Given the description of an element on the screen output the (x, y) to click on. 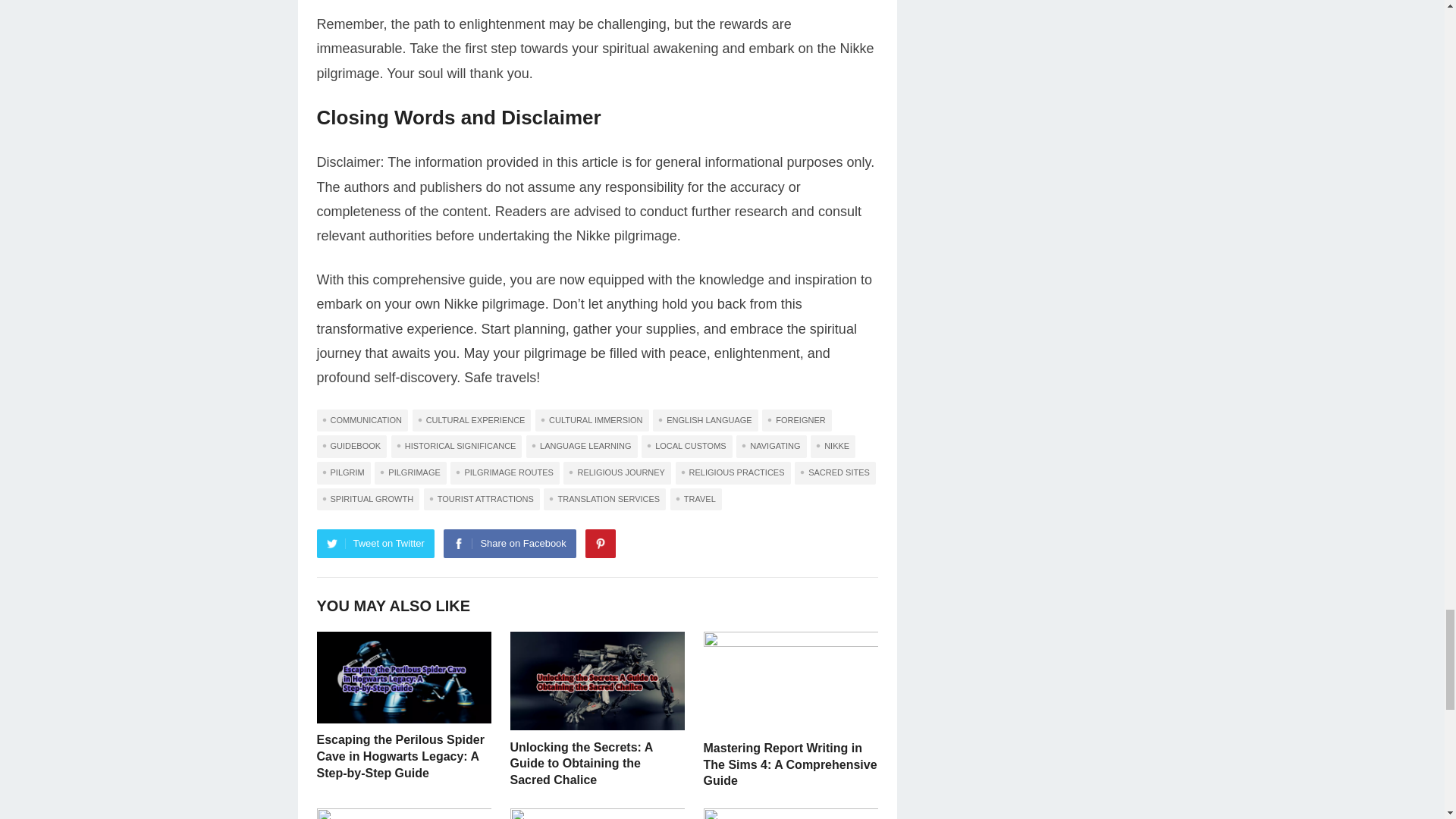
HISTORICAL SIGNIFICANCE (456, 445)
SPIRITUAL GROWTH (368, 499)
CULTURAL IMMERSION (591, 420)
PILGRIM (344, 472)
PILGRIMAGE (409, 472)
FOREIGNER (796, 420)
LOCAL CUSTOMS (687, 445)
NIKKE (833, 445)
TRAVEL (695, 499)
TRANSLATION SERVICES (604, 499)
